Given the description of an element on the screen output the (x, y) to click on. 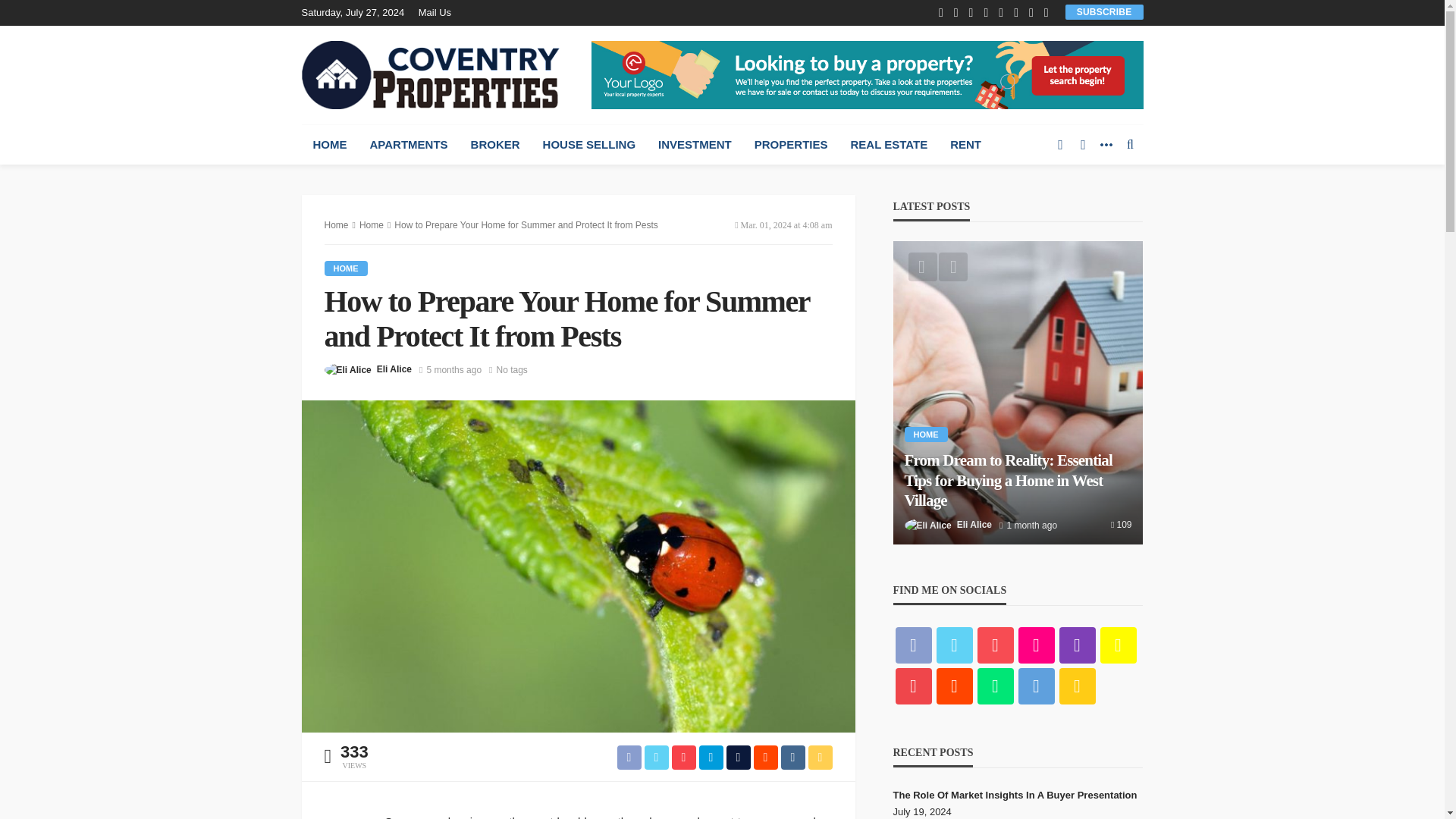
SUBSCRIBE (1103, 11)
HOME (329, 144)
Mail Us (438, 12)
subscribe (1103, 11)
